Given the description of an element on the screen output the (x, y) to click on. 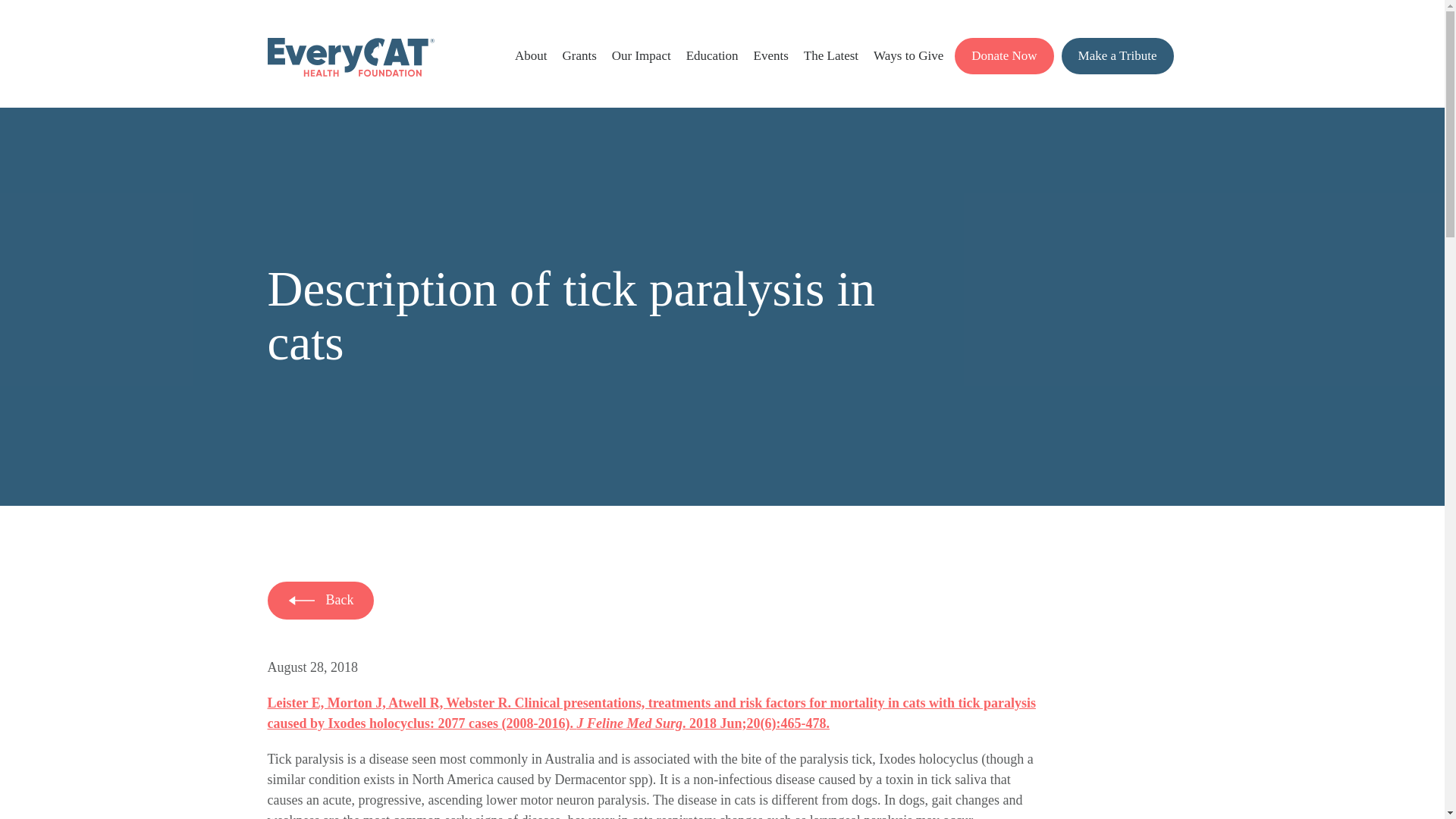
Go Back (320, 600)
Our Impact (641, 55)
Events (771, 55)
Education (711, 55)
The Latest (831, 55)
Grants (578, 55)
Donate Now (1003, 55)
Make a Tribute (1117, 55)
Ways to Give (908, 55)
Home (349, 72)
About (531, 55)
